Given the description of an element on the screen output the (x, y) to click on. 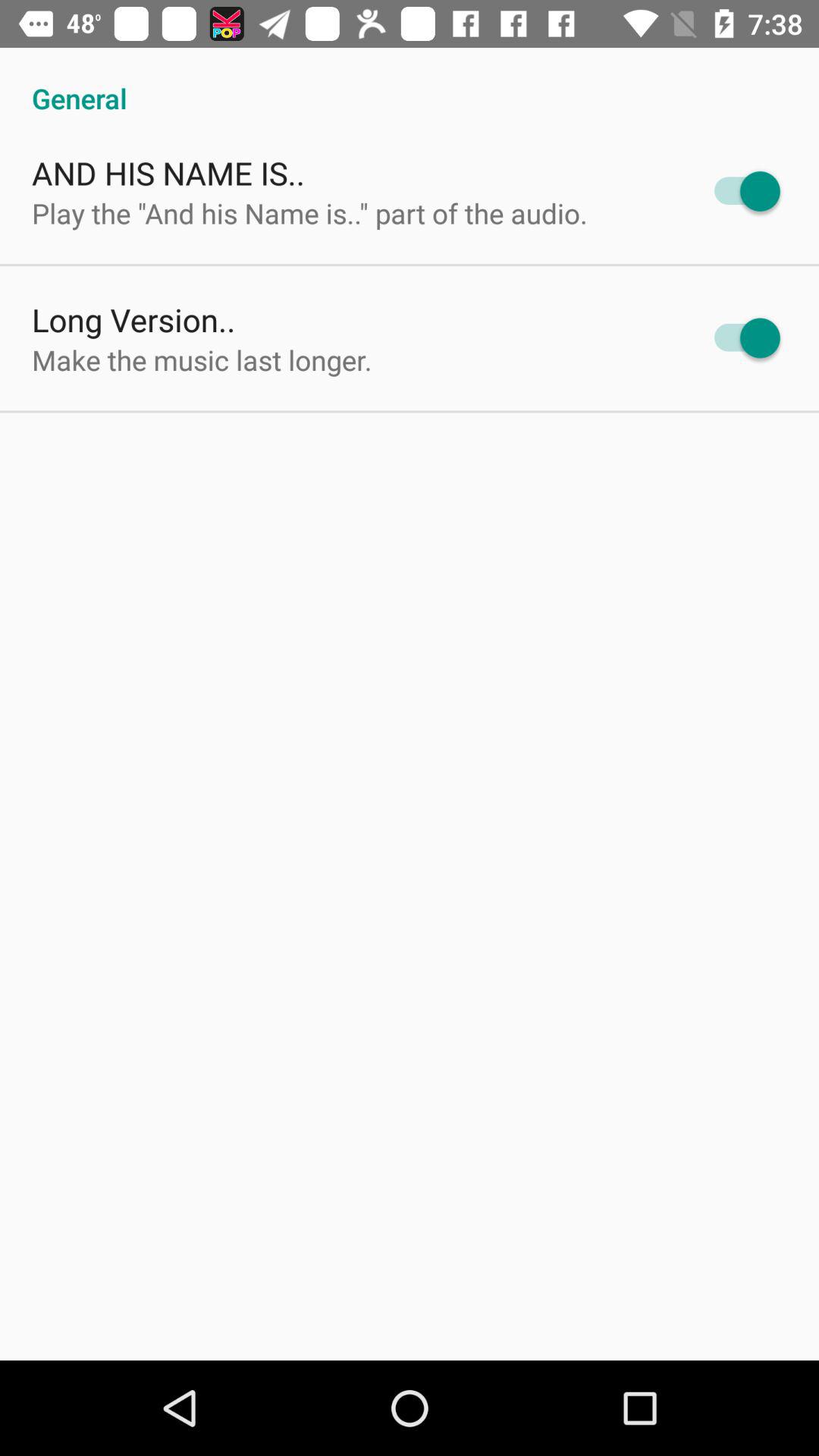
scroll to long version.. icon (133, 319)
